Given the description of an element on the screen output the (x, y) to click on. 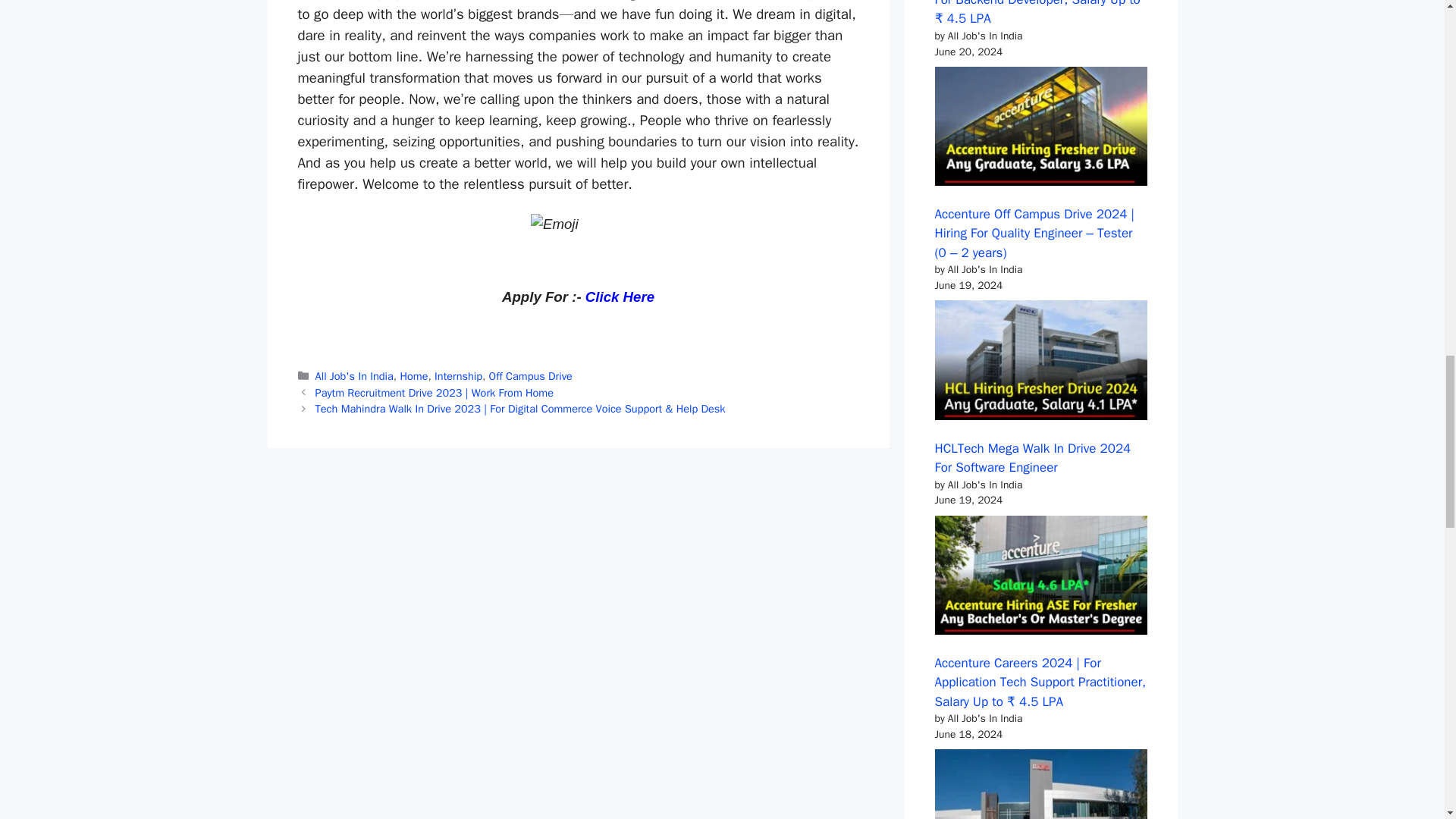
Off Campus Drive (530, 376)
Internship (457, 376)
HCLTech Mega Walk In Drive 2024 For Software Engineer (1032, 457)
 Click Here (616, 296)
All Job's In India (354, 376)
Home (414, 376)
